Given the description of an element on the screen output the (x, y) to click on. 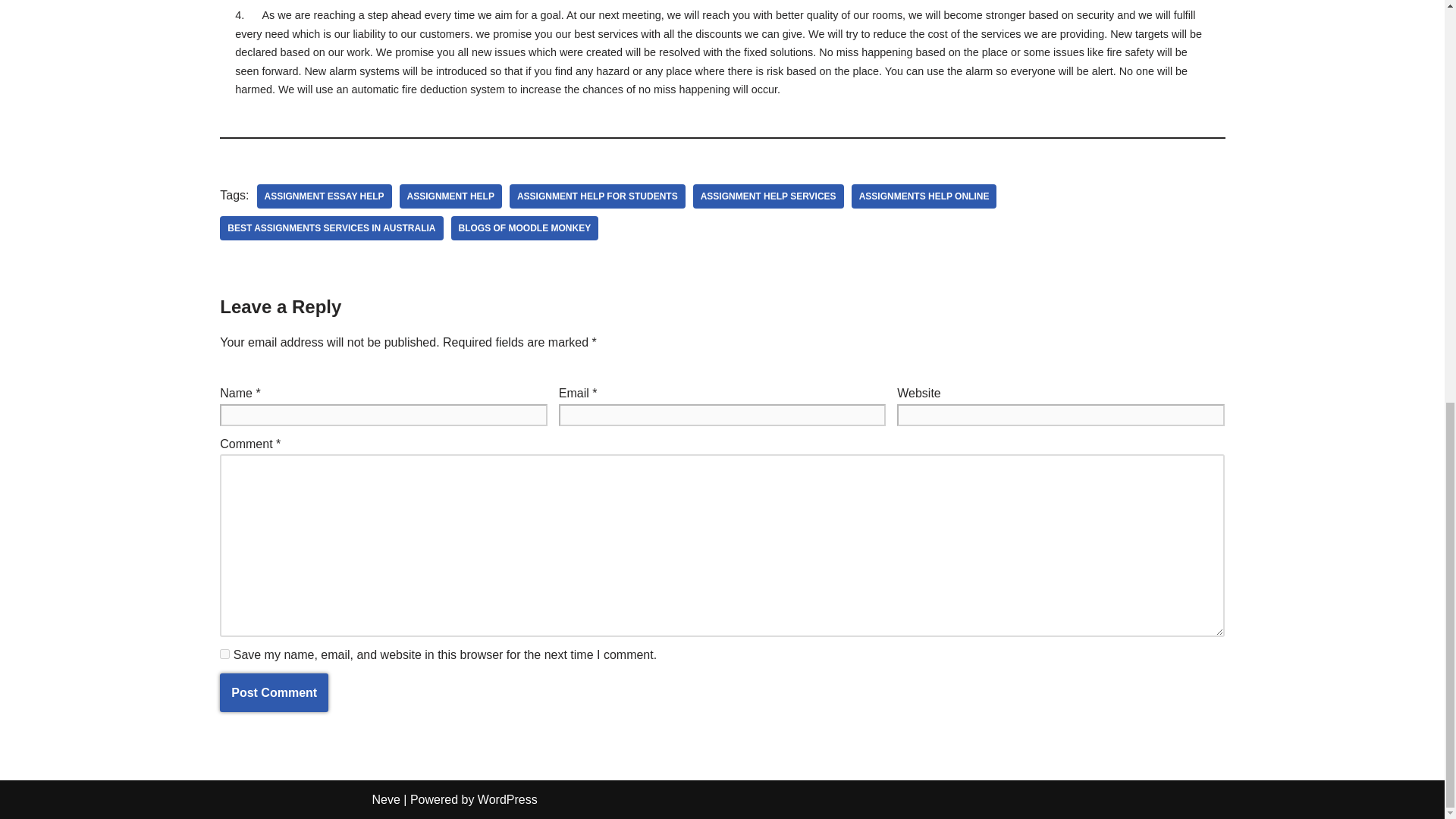
assignment help for students (597, 196)
assignment help services (768, 196)
blogs of moodle monkey (524, 228)
assignment essay help (323, 196)
yes (224, 654)
best assignments services in australia (330, 228)
Post Comment (274, 692)
assignment help (450, 196)
assignments help online (924, 196)
